Given the description of an element on the screen output the (x, y) to click on. 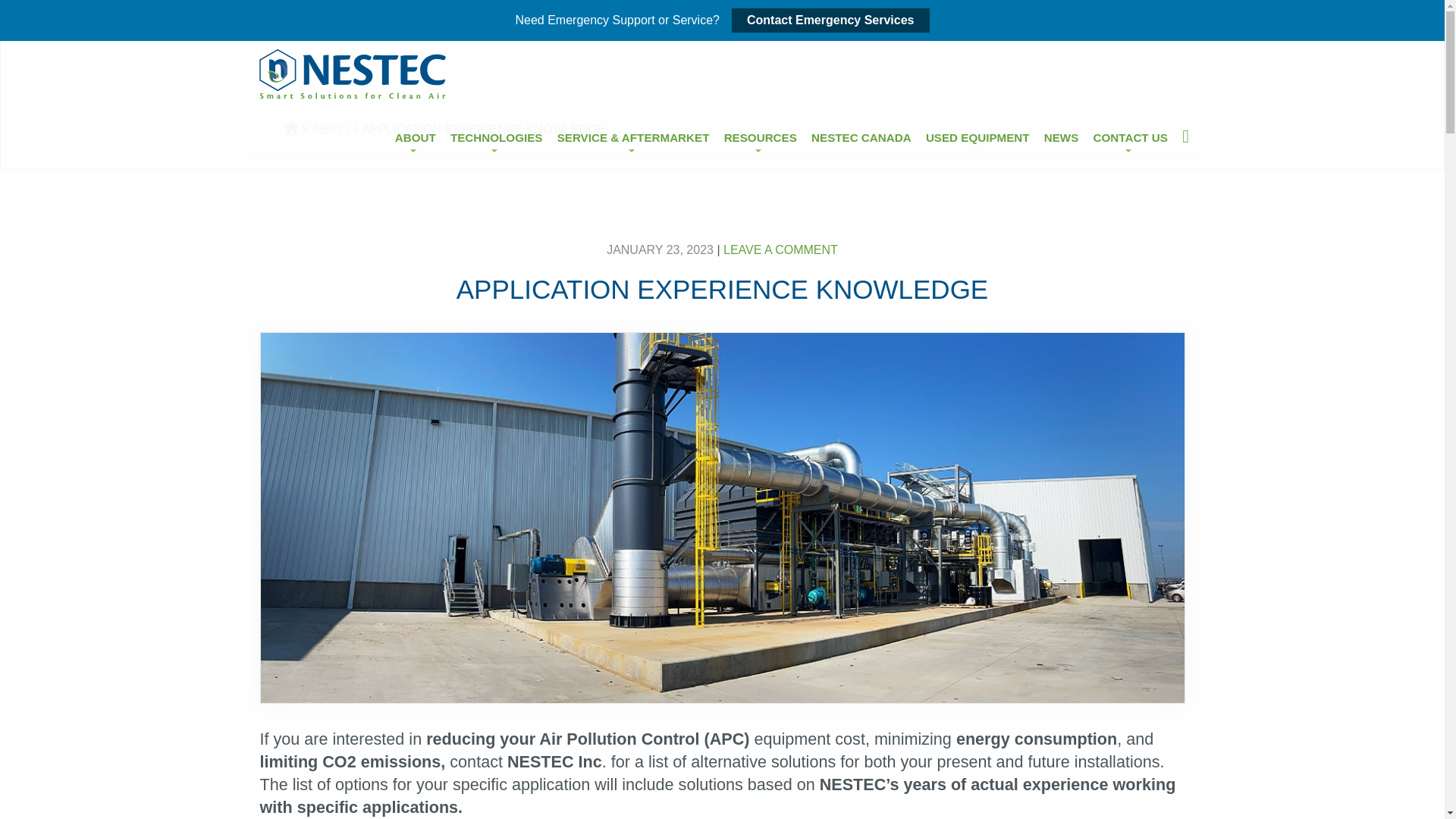
RESOURCES (759, 137)
USED EQUIPMENT (977, 137)
CONTACT US (1130, 137)
NESTEC CANADA (860, 137)
TECHNOLOGIES (496, 137)
NEWS (332, 128)
Contact Emergency Services (831, 20)
LEAVE A COMMENT (780, 249)
